Given the description of an element on the screen output the (x, y) to click on. 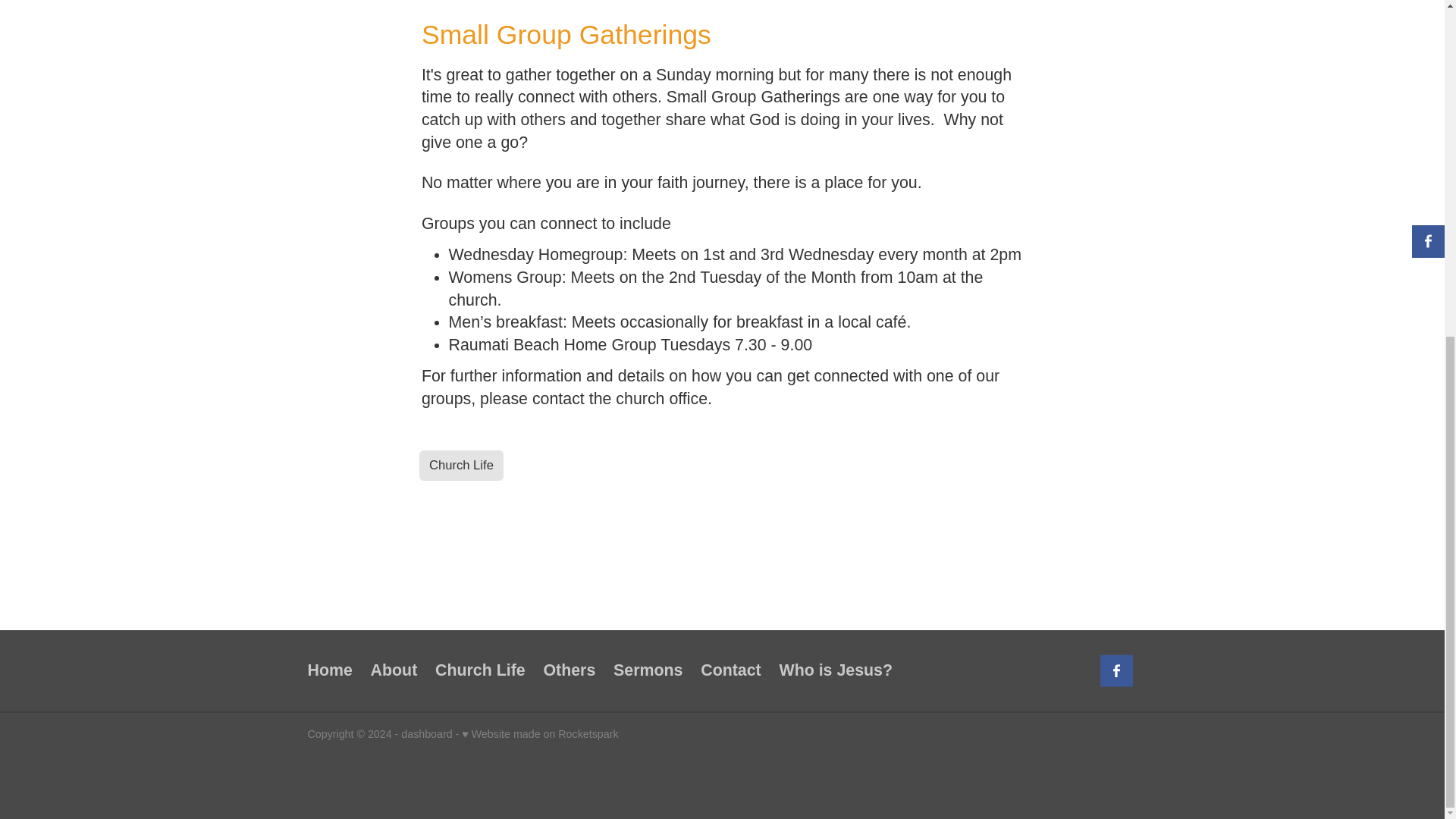
Who is Jesus? (835, 670)
Others (569, 670)
dashboard (426, 734)
Sermons (647, 670)
Home (334, 670)
About (393, 670)
Contact (730, 670)
A link to this website's Facebook. (1116, 670)
Church Life (480, 670)
